Given the description of an element on the screen output the (x, y) to click on. 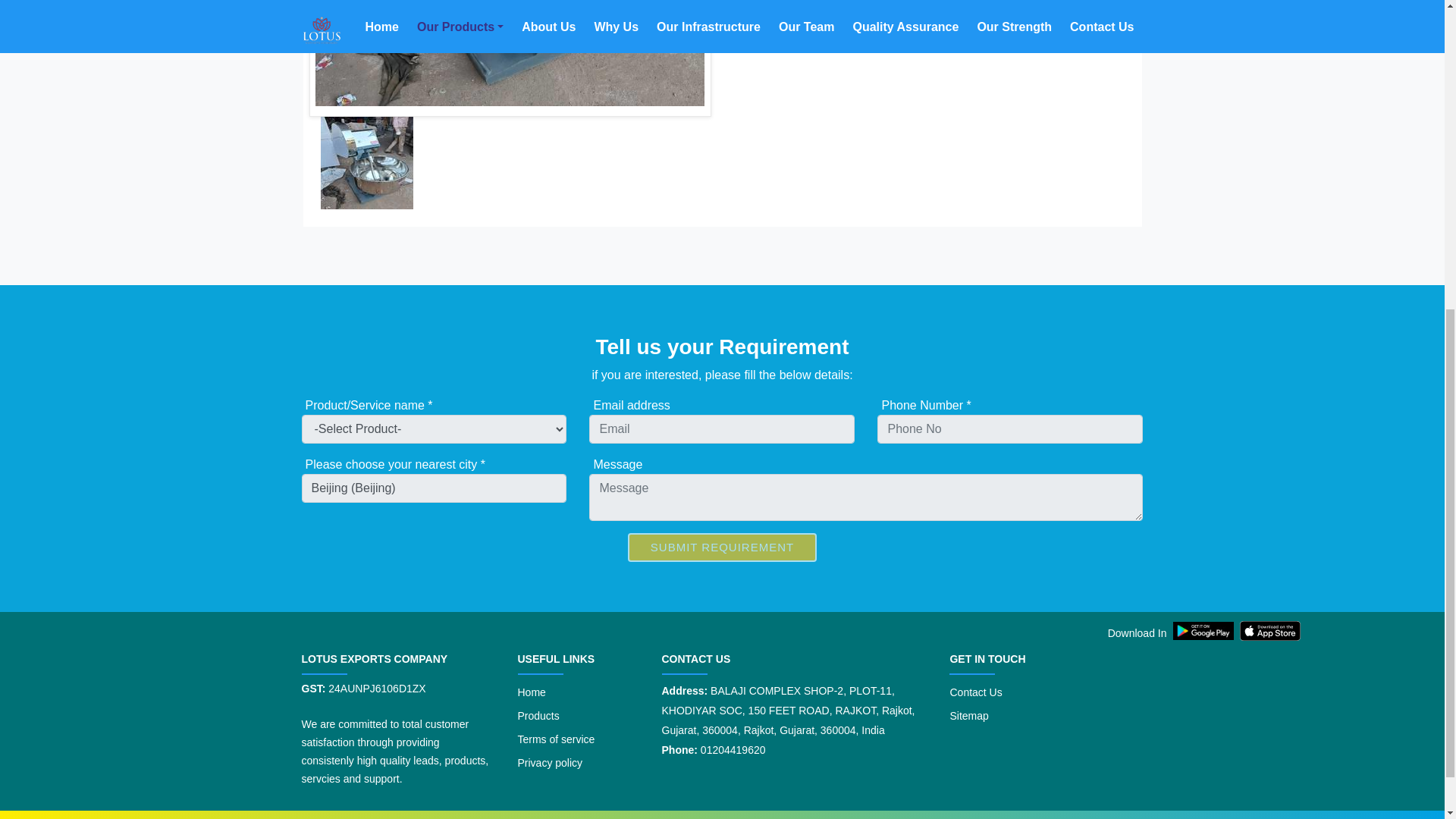
SUBMIT REQUIREMENT (721, 547)
Download In (1269, 630)
Download In (1205, 630)
